Given the description of an element on the screen output the (x, y) to click on. 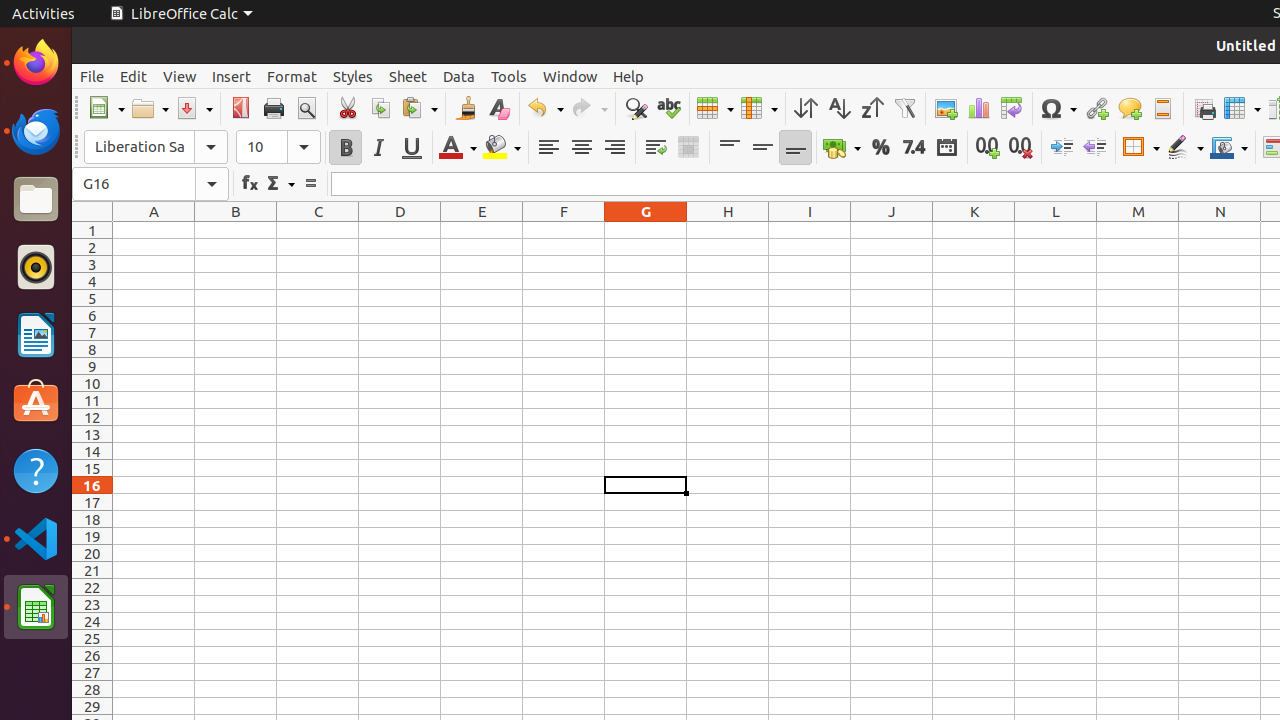
I1 Element type: table-cell (810, 230)
LibreOffice Calc Element type: push-button (36, 607)
Styles Element type: menu (353, 76)
File Element type: menu (92, 76)
Currency Element type: push-button (842, 147)
